Given the description of an element on the screen output the (x, y) to click on. 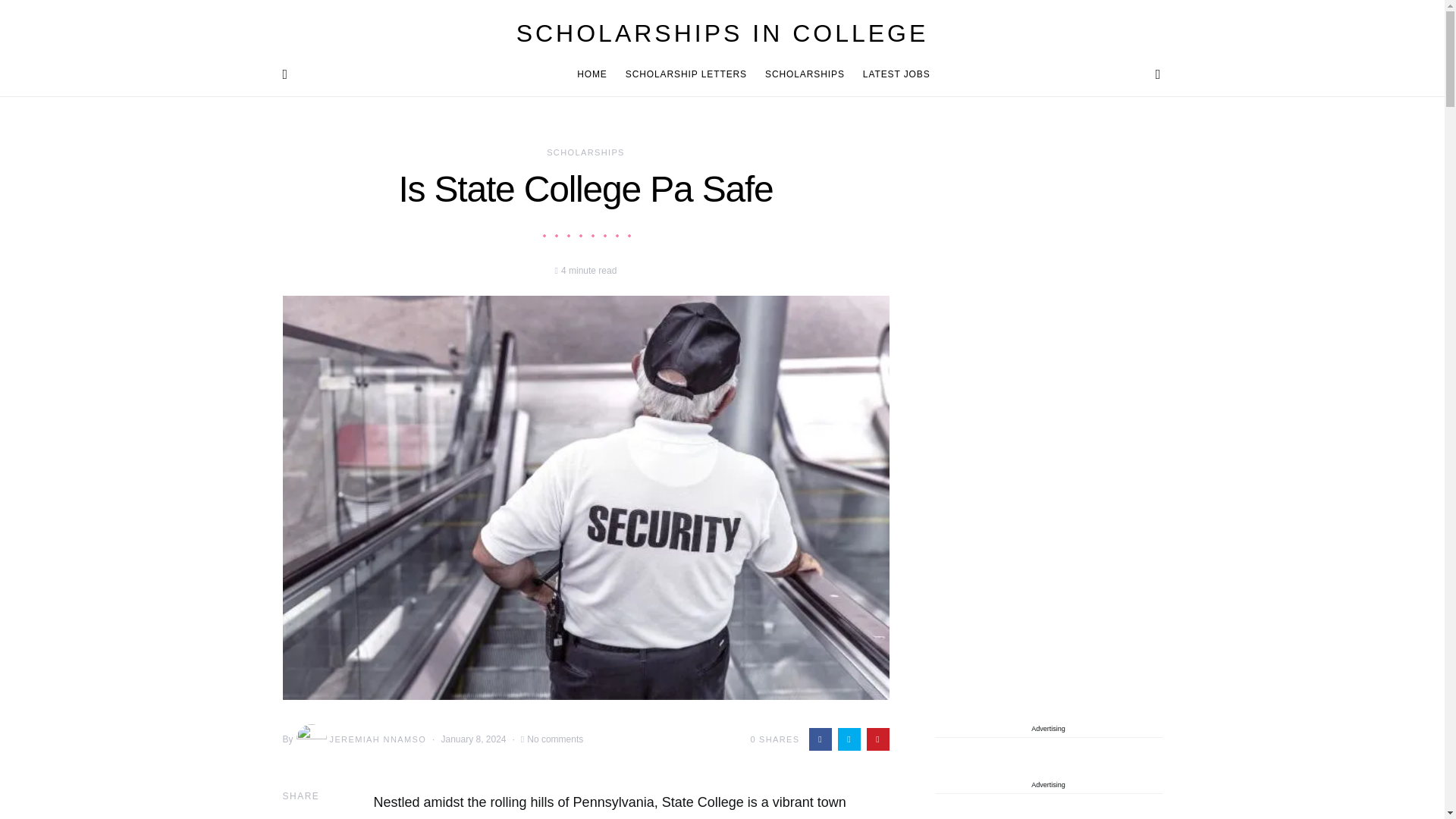
SCHOLARSHIPS (585, 152)
LATEST JOBS (891, 74)
No comments (555, 739)
JEREMIAH NNAMSO (360, 738)
SCHOLARSHIP LETTERS (685, 74)
SCHOLARSHIPS (804, 74)
SCHOLARSHIPS IN COLLEGE (722, 33)
View all posts by Jeremiah Nnamso (360, 738)
